Given the description of an element on the screen output the (x, y) to click on. 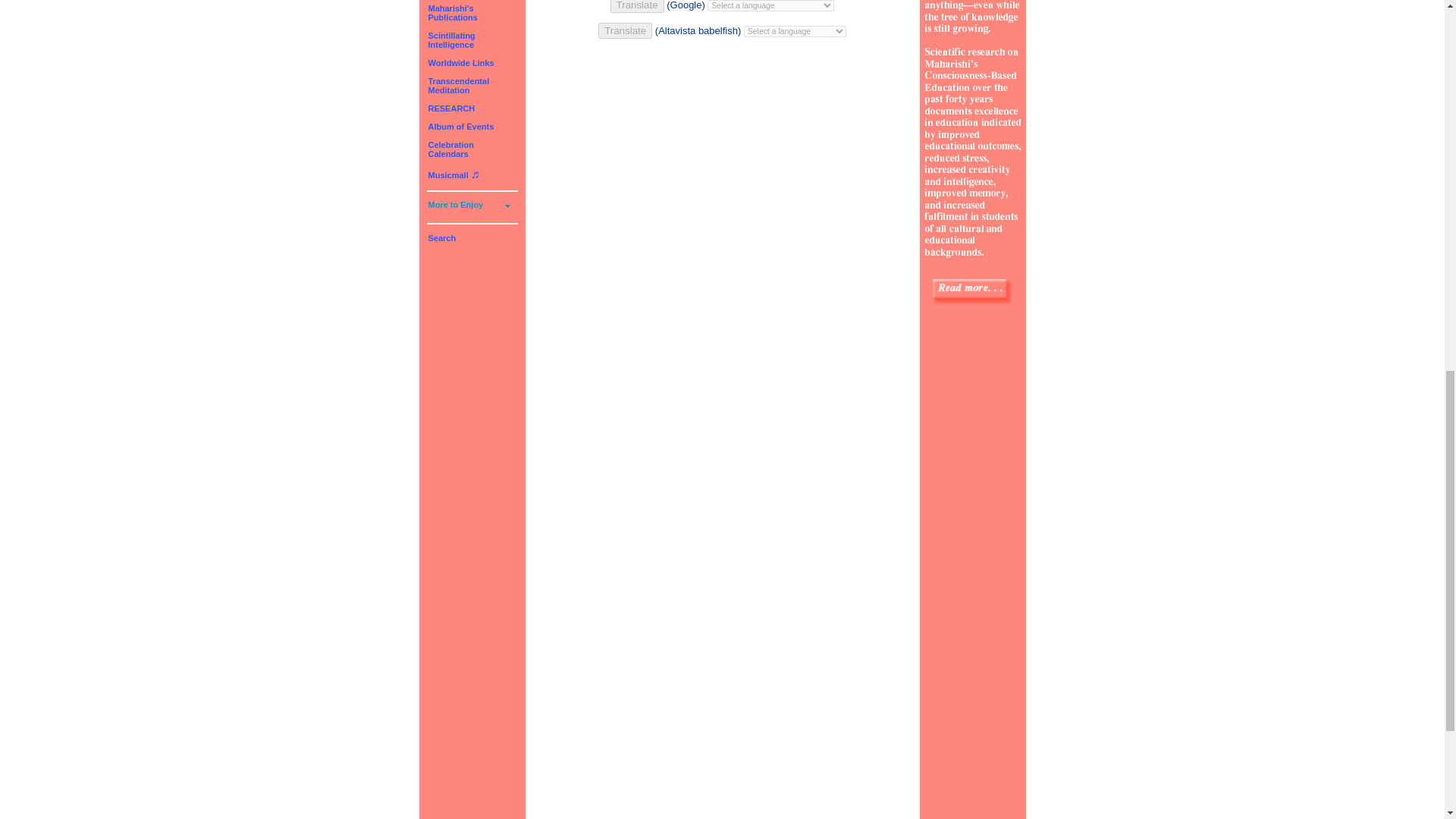
Album of Events (460, 126)
Translate (451, 149)
Translate (636, 6)
More to Enjoy (625, 30)
RESEARCH (470, 206)
Worldwide Links (451, 108)
